Given the description of an element on the screen output the (x, y) to click on. 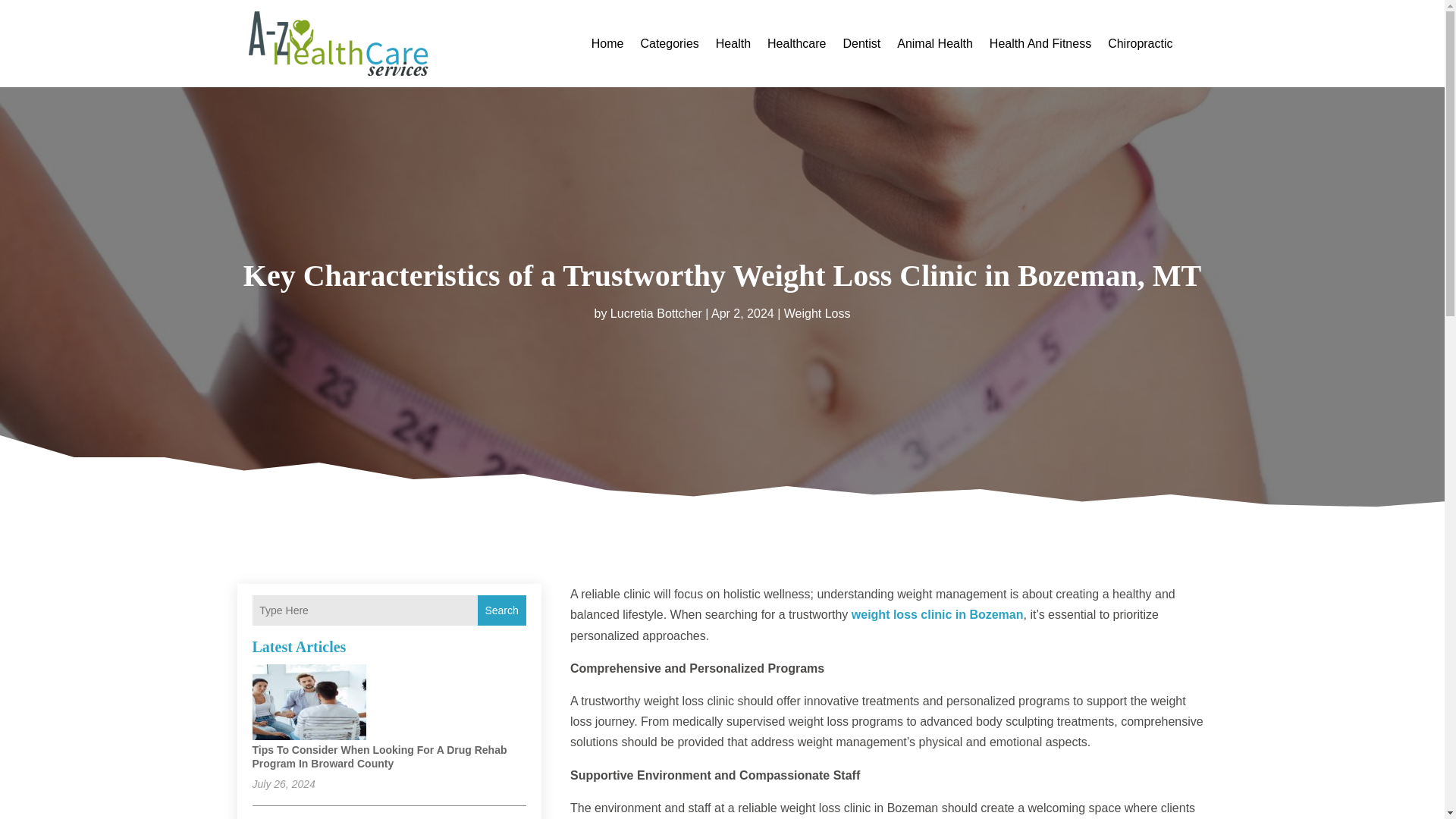
Healthcare (796, 43)
Weight Loss (817, 312)
Health And Fitness (1040, 43)
Categories (669, 43)
Lucretia Bottcher (655, 312)
Search (501, 610)
Animal Health (934, 43)
Chiropractic (1140, 43)
Posts by Lucretia Bottcher (655, 312)
